Given the description of an element on the screen output the (x, y) to click on. 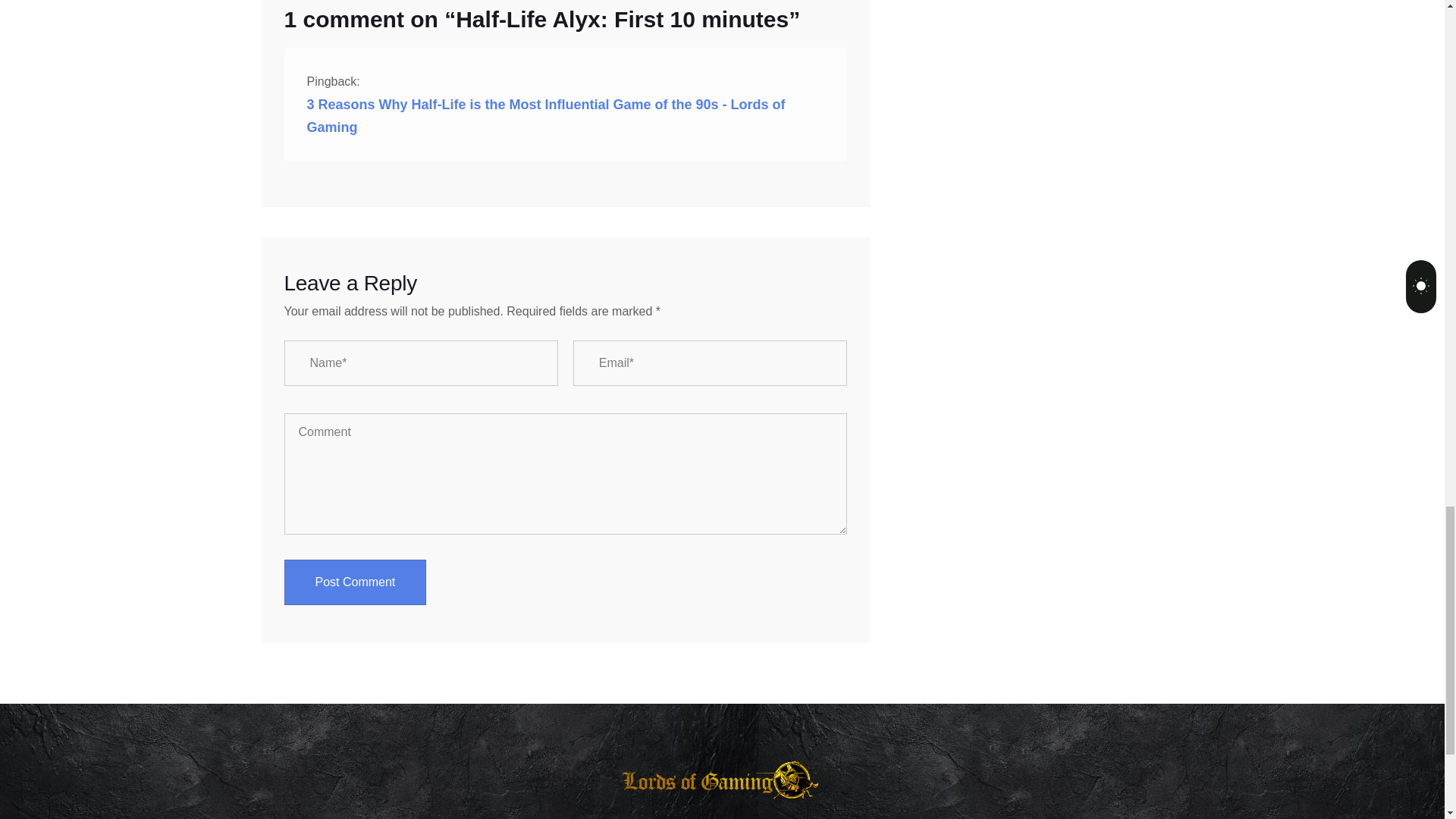
Post Comment (354, 582)
